Given the description of an element on the screen output the (x, y) to click on. 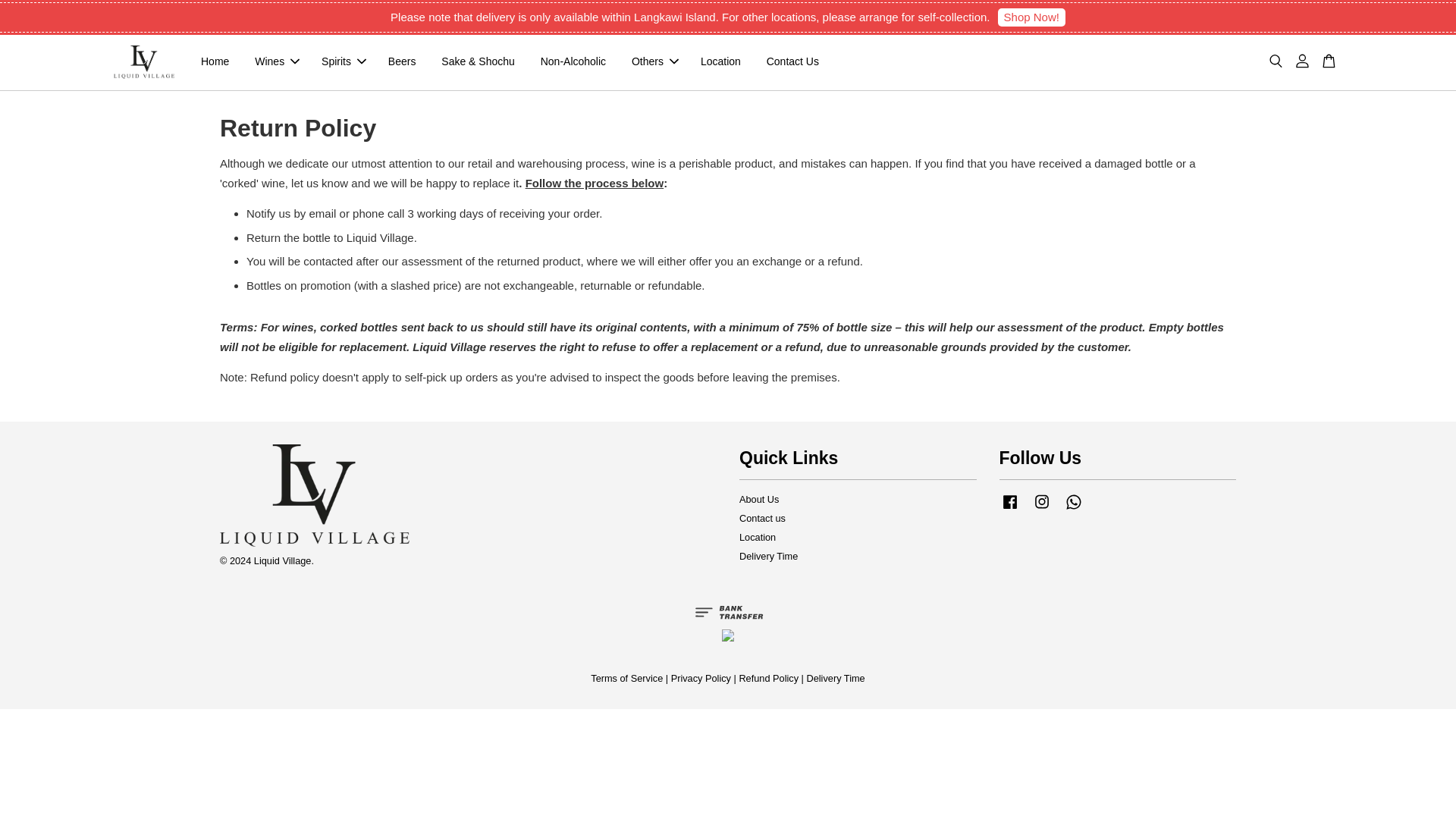
icon-facebook (1009, 501)
Liquid Village on Facebook (1009, 509)
icon-whatsapp (1073, 501)
icon-instagram (1041, 501)
Liquid Village on Whatsapp (1073, 509)
Liquid Village on Instagram (1041, 509)
